Given the description of an element on the screen output the (x, y) to click on. 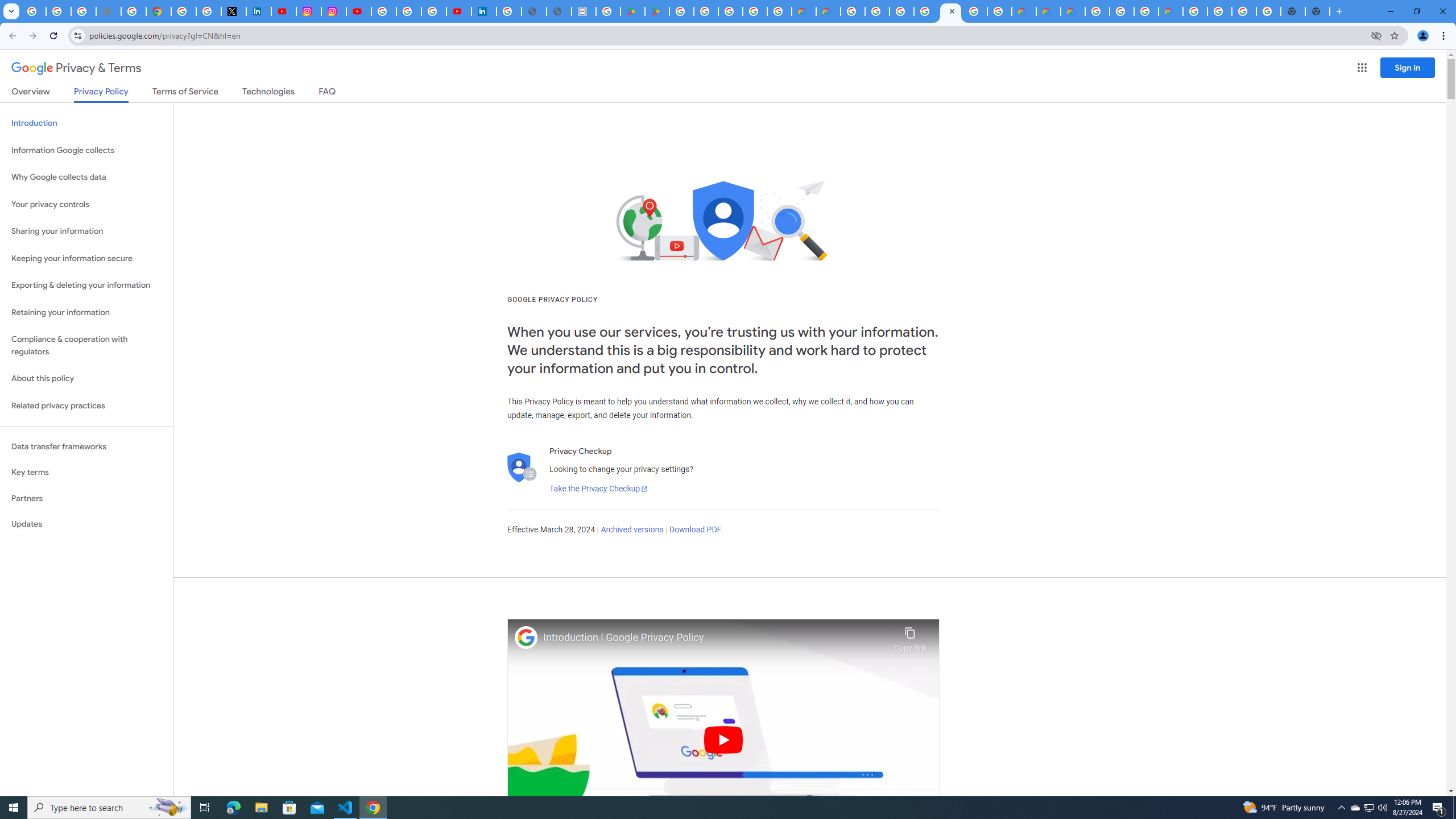
Data transfer frameworks (86, 446)
Sign in - Google Accounts (383, 11)
Archived versions (631, 529)
Photo image of Google (526, 636)
Copy link (909, 636)
Compliance & cooperation with regulators (86, 345)
Close (951, 11)
Search tabs (10, 11)
Customer Care | Google Cloud (1023, 11)
Partners (86, 497)
